Given the description of an element on the screen output the (x, y) to click on. 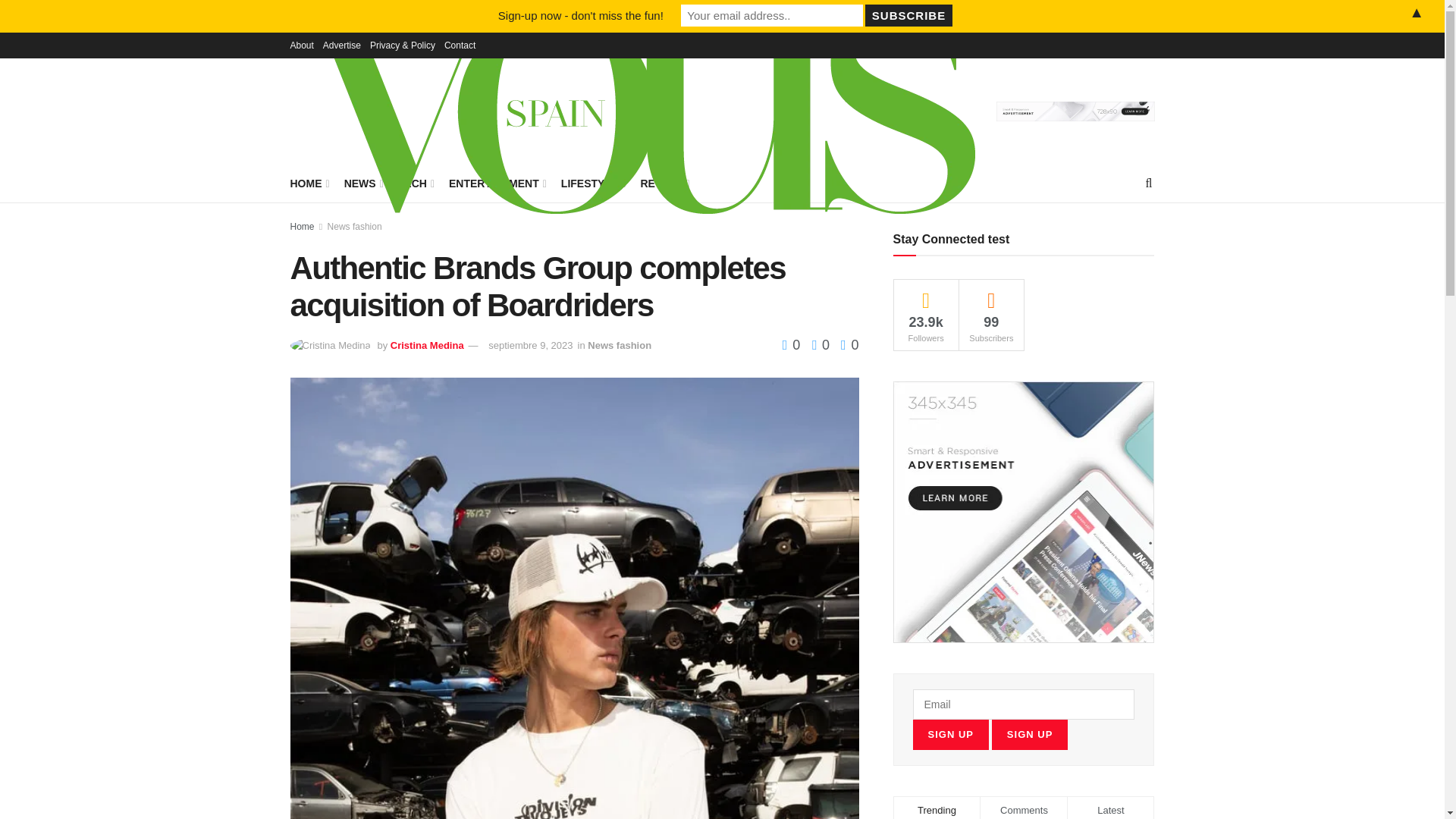
Contact (460, 45)
HOME (307, 183)
TECH (414, 183)
NEWS (362, 183)
About (301, 45)
Subscribe (908, 15)
Advertise (342, 45)
SIGN UP (950, 734)
SIGN UP (1029, 734)
